Given the description of an element on the screen output the (x, y) to click on. 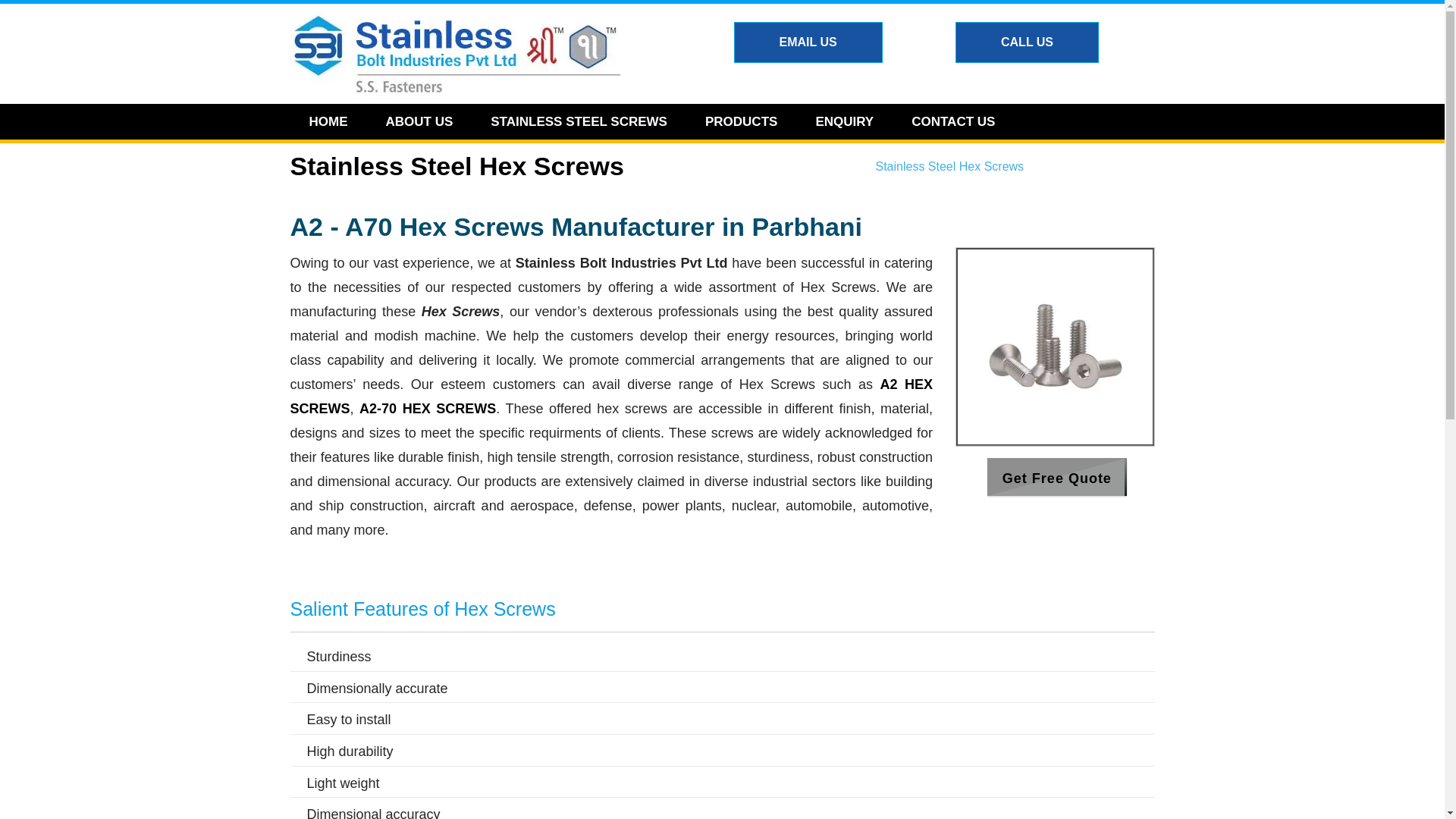
CALL US (1026, 42)
PRODUCTS (740, 121)
A2 HEX SCREWS (611, 396)
ABOUT US (418, 121)
EMAIL US (807, 42)
ENQUIRY (844, 121)
EMAIL US (807, 42)
STAINLESS STEEL SCREWS (578, 121)
CONTACT US (952, 121)
HOME (327, 121)
CALL US (1027, 42)
A2-70 HEX SCREWS (427, 408)
Get Free Quote (1057, 478)
